Given the description of an element on the screen output the (x, y) to click on. 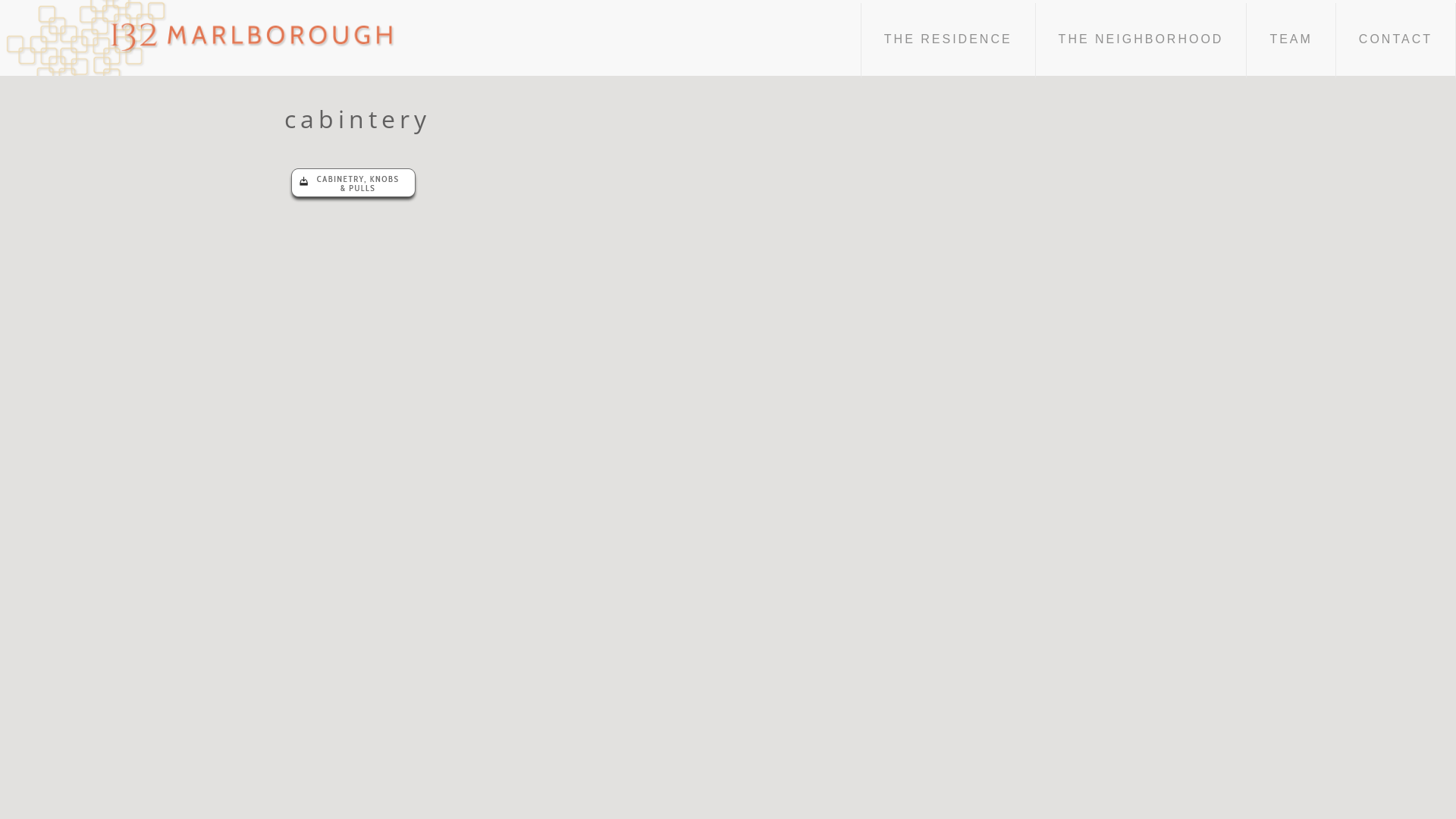
THE NEIGHBORHOOD Element type: text (1141, 40)
THE RESIDENCE Element type: text (947, 40)
TEAM Element type: text (1290, 40)
